Given the description of an element on the screen output the (x, y) to click on. 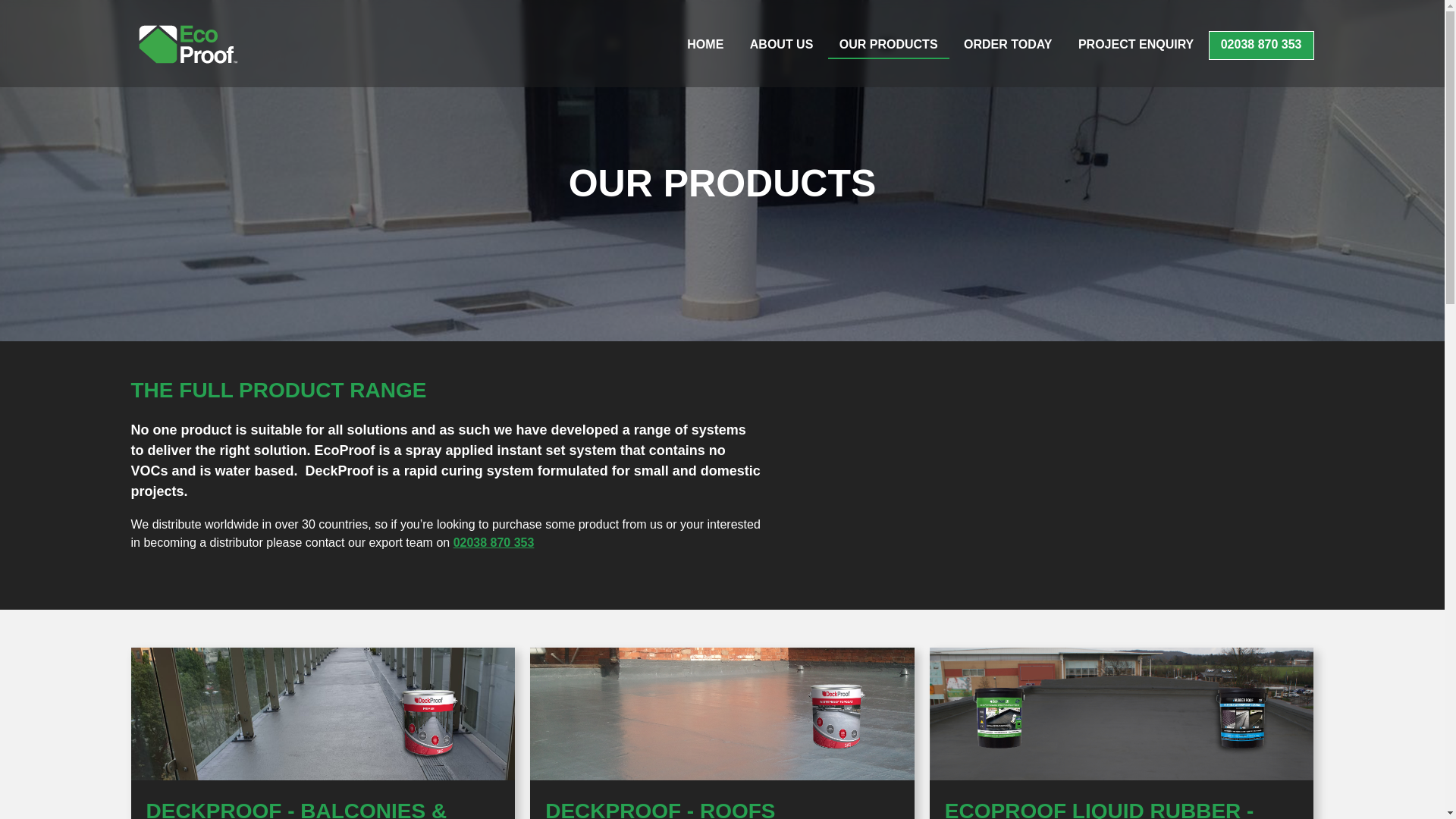
02038 870 353 (493, 542)
PROJECT ENQUIRY (1136, 44)
ABOUT US (781, 44)
OUR PRODUCTS (888, 44)
ORDER TODAY (1007, 44)
HOME (705, 44)
02038 870 353 (1261, 44)
